Given the description of an element on the screen output the (x, y) to click on. 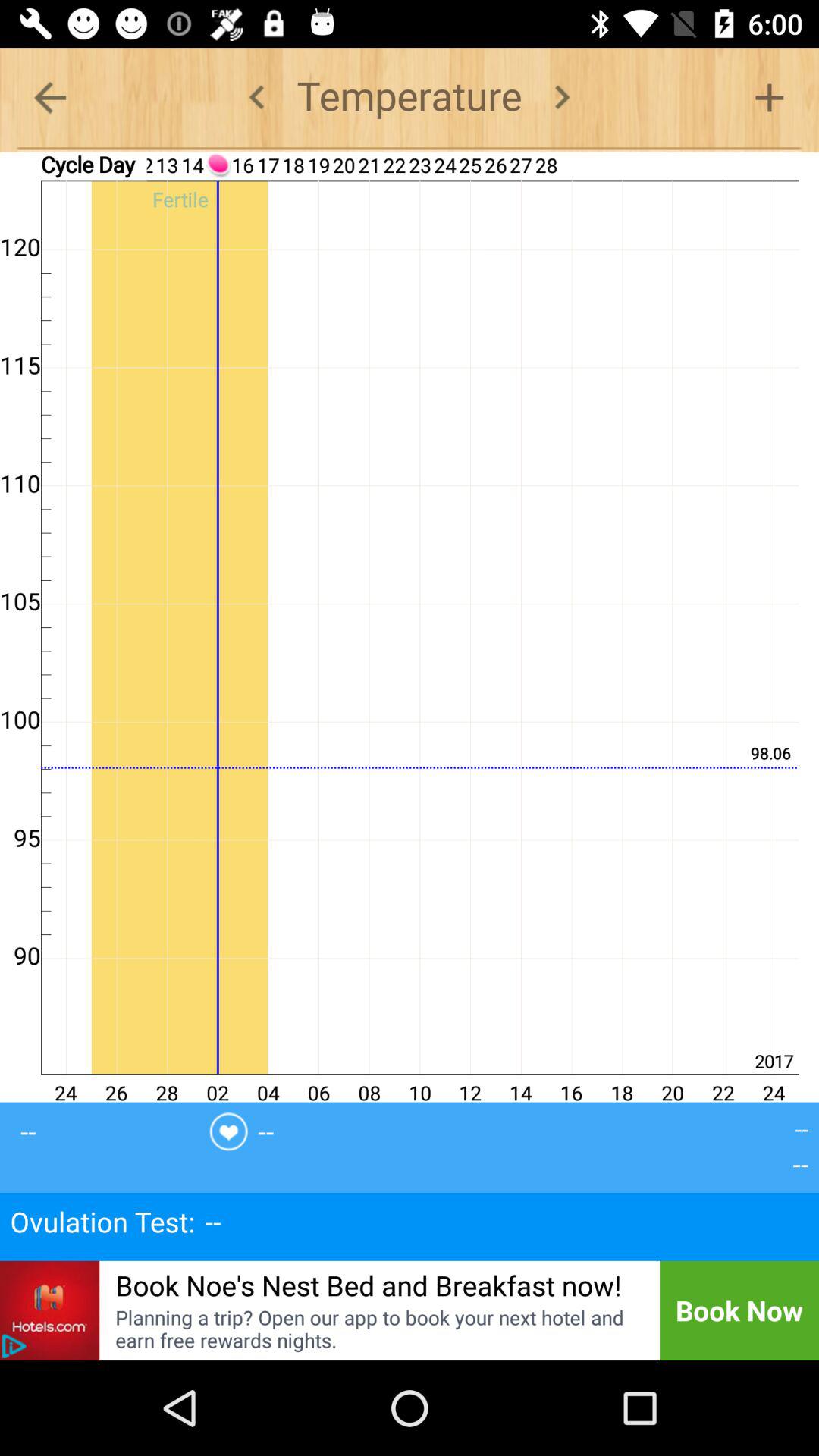
turn off icon to the left of book now (377, 1329)
